Given the description of an element on the screen output the (x, y) to click on. 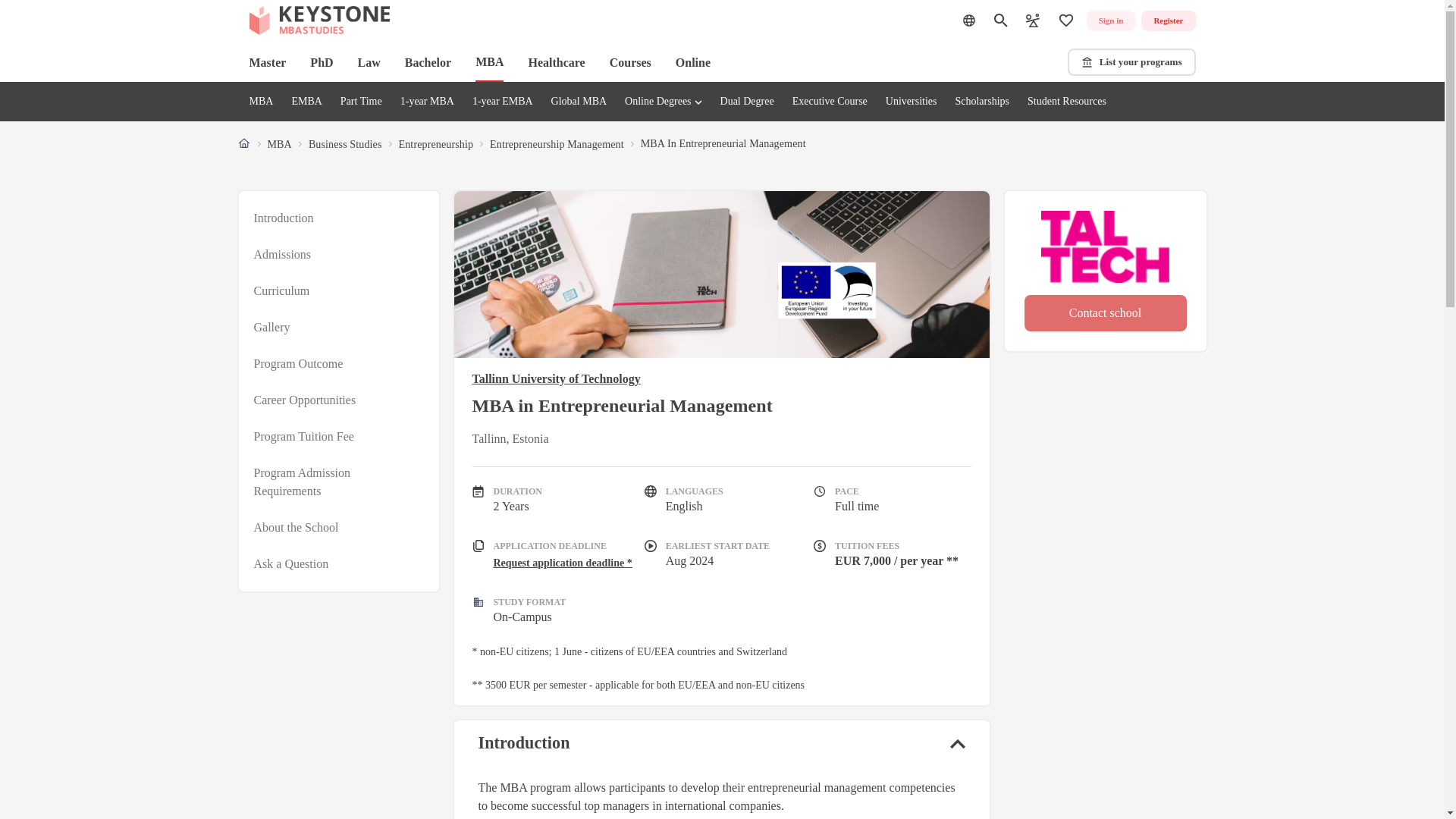
Bachelor (427, 63)
Business Studies (344, 144)
Entrepreneurship (436, 144)
Healthcare (556, 63)
Master (266, 63)
Executive Course (829, 101)
Student Resources (1066, 101)
Dual Degree (747, 101)
Career Opportunities (304, 400)
MBA (278, 144)
